Given the description of an element on the screen output the (x, y) to click on. 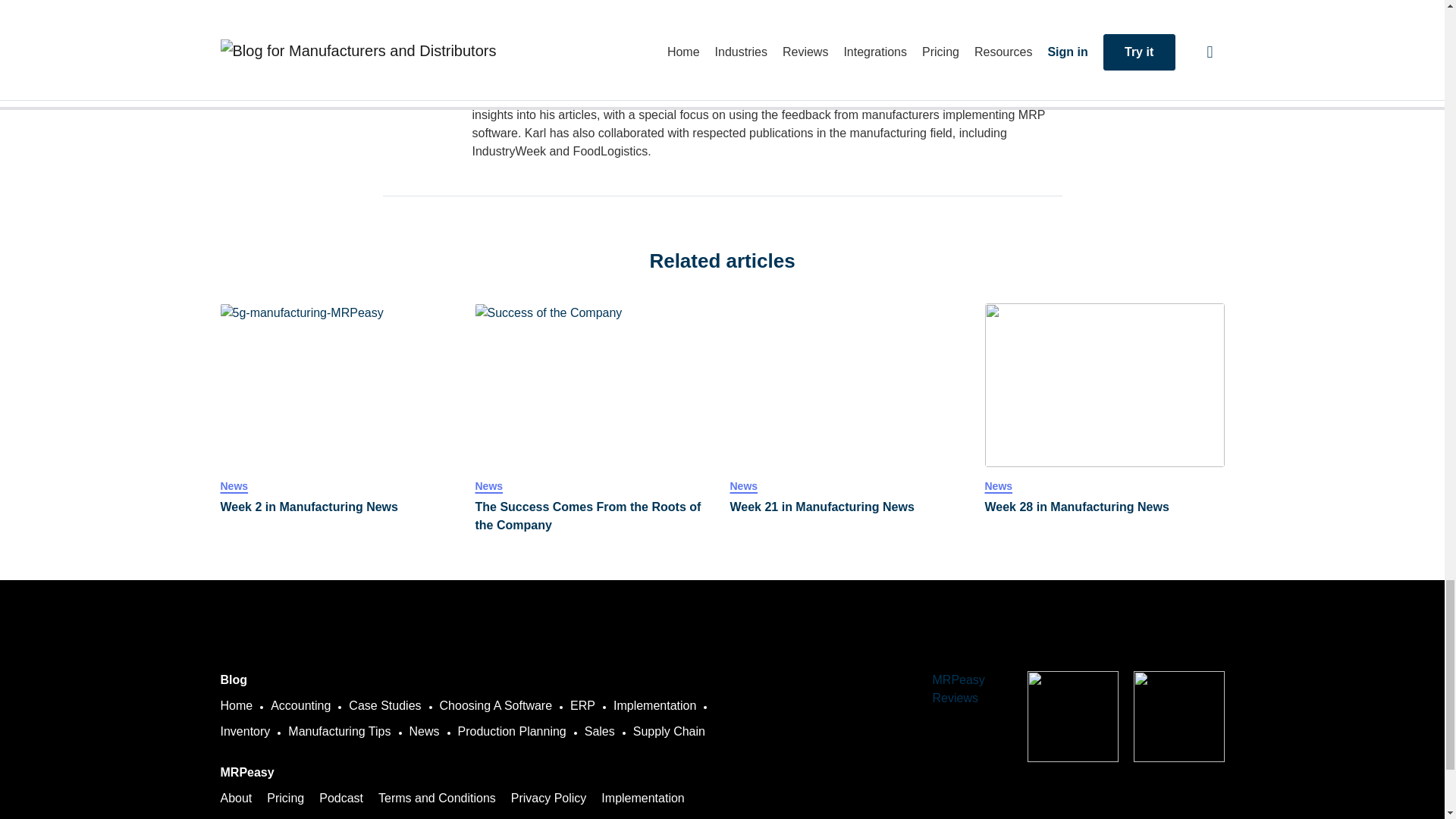
Week 2 in Manufacturing News (339, 384)
Week 21 in Manufacturing News (849, 384)
The Success Comes From the Roots of the Company (594, 384)
The Success Comes From the Roots of the Company (594, 515)
Week 2 in Manufacturing News (339, 506)
